Given the description of an element on the screen output the (x, y) to click on. 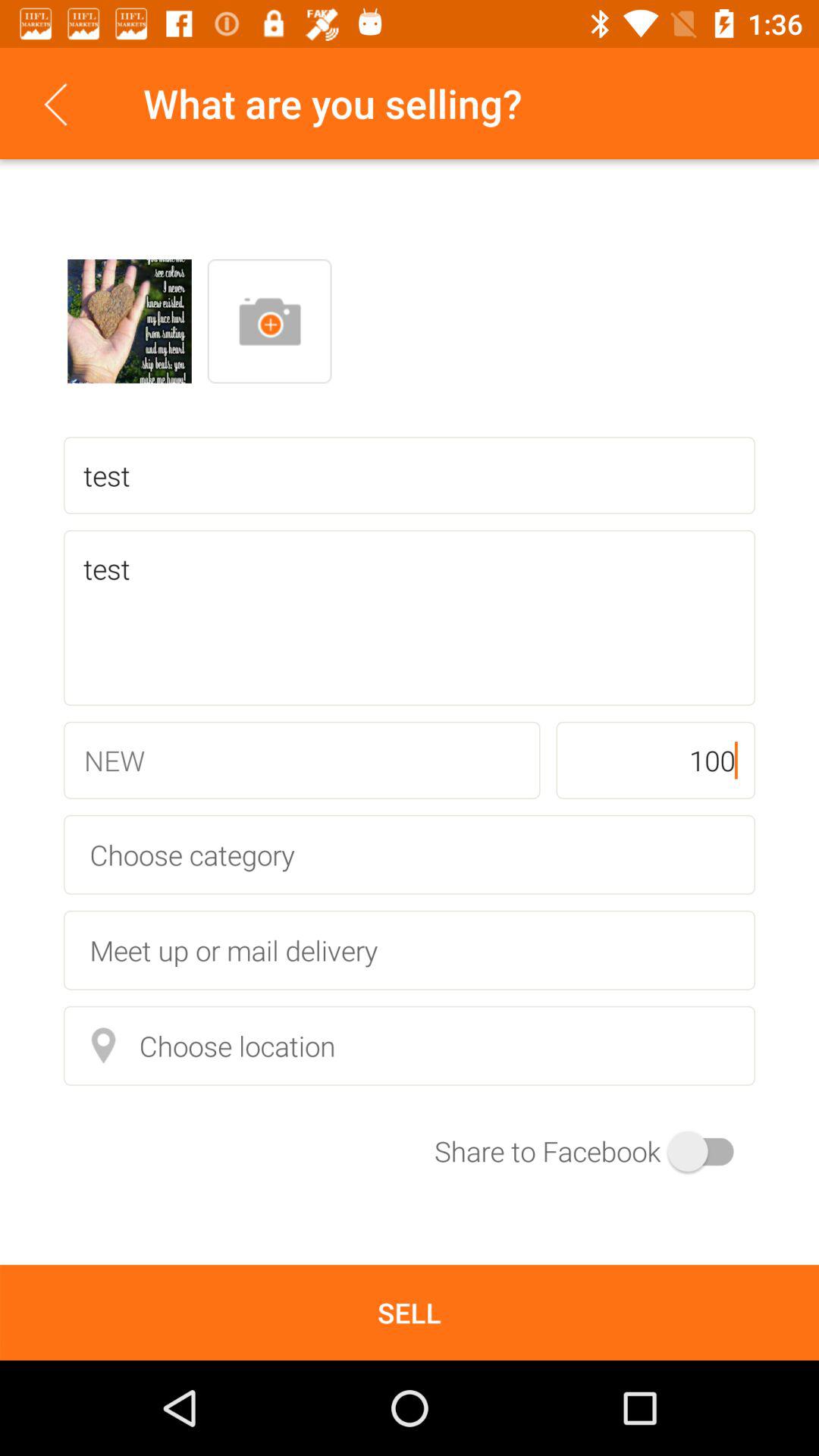
flip to the meet up or (409, 950)
